Given the description of an element on the screen output the (x, y) to click on. 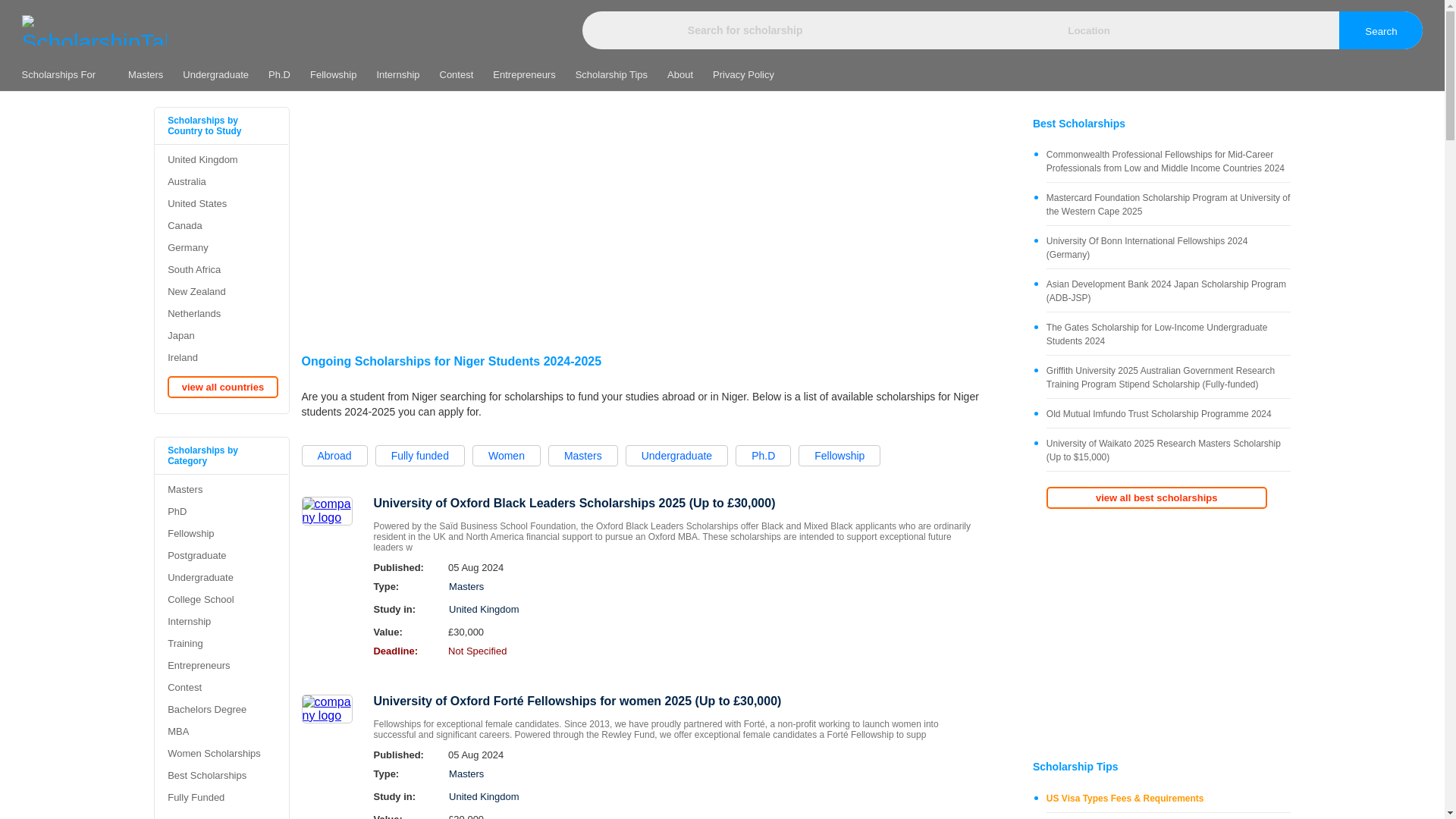
Fully funded (419, 455)
ScholarshTab Privacy Policy (743, 74)
Masters Scholarships (145, 74)
Masters (582, 455)
Masters (145, 74)
Ph.D (279, 74)
About (680, 74)
Search (1380, 30)
Abroad (334, 455)
Scholarships For (70, 74)
Fellowship (838, 455)
Undergraduate (677, 455)
Women (505, 455)
view all countries (1156, 497)
Internship (397, 74)
